Given the description of an element on the screen output the (x, y) to click on. 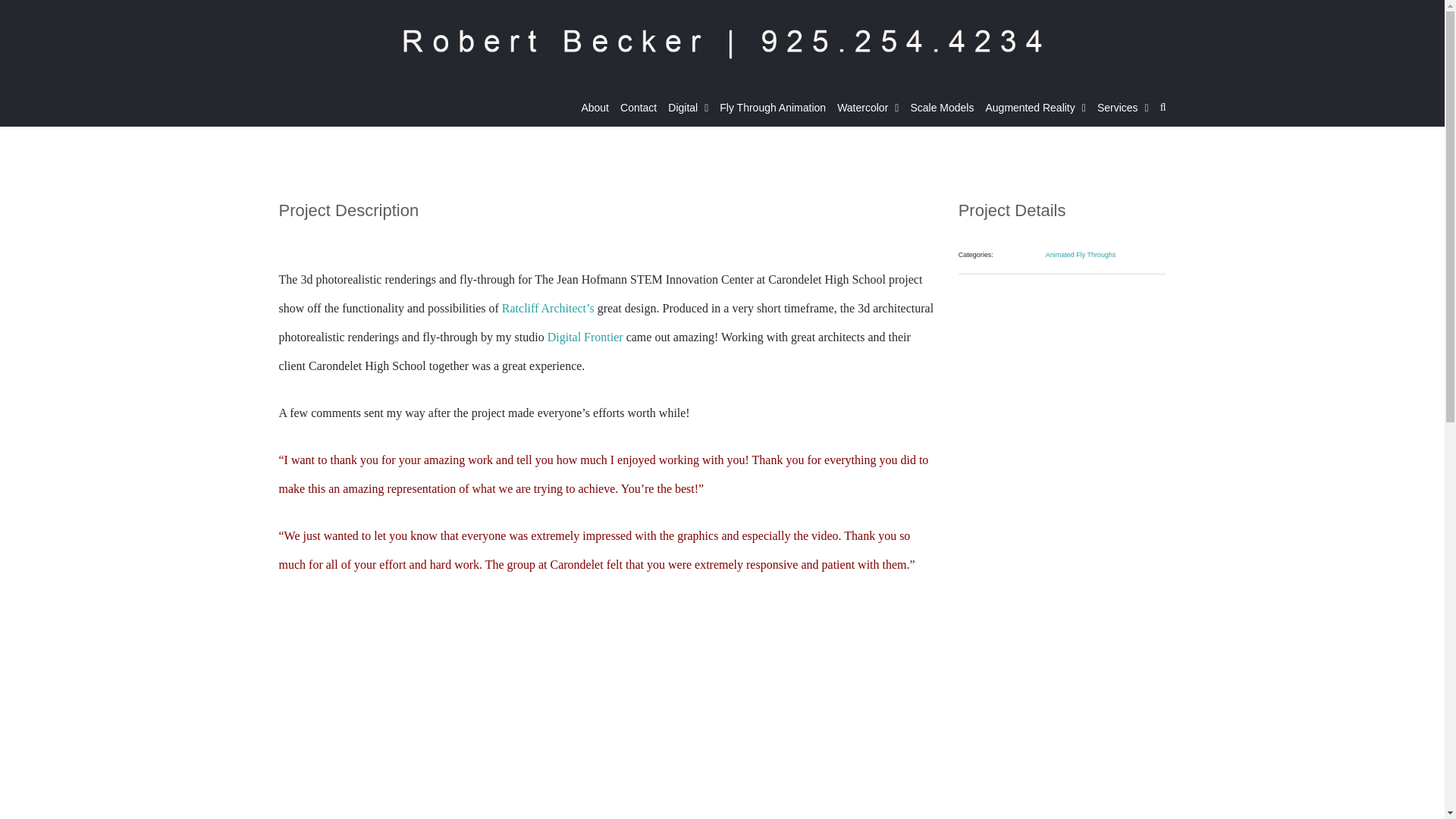
Fly Through Animation (772, 107)
Scale Models (942, 107)
Digital (687, 107)
Contact (638, 107)
Watercolor (867, 107)
Augmented Reality (1034, 107)
